Given the description of an element on the screen output the (x, y) to click on. 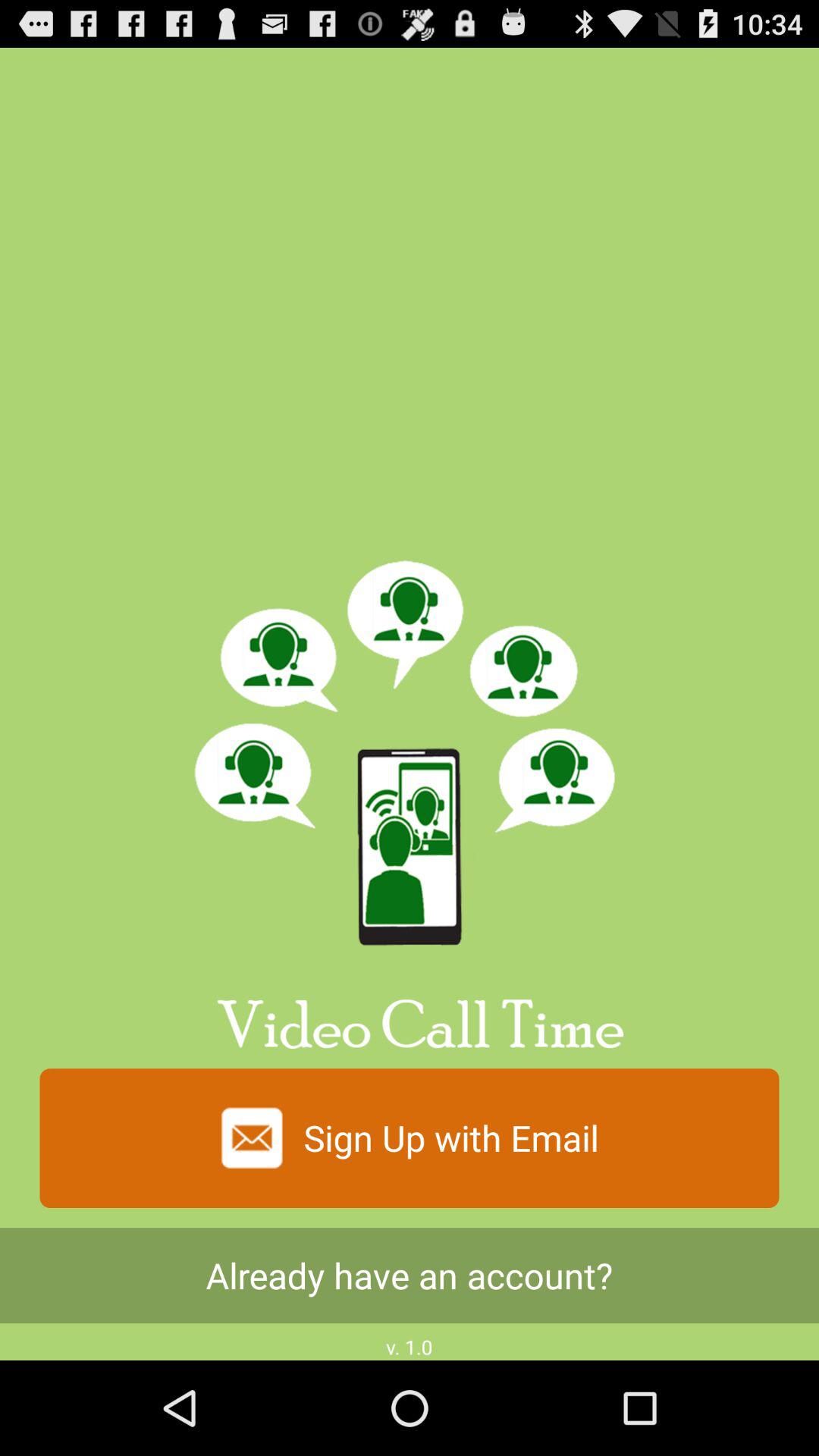
scroll to already have an (409, 1275)
